Given the description of an element on the screen output the (x, y) to click on. 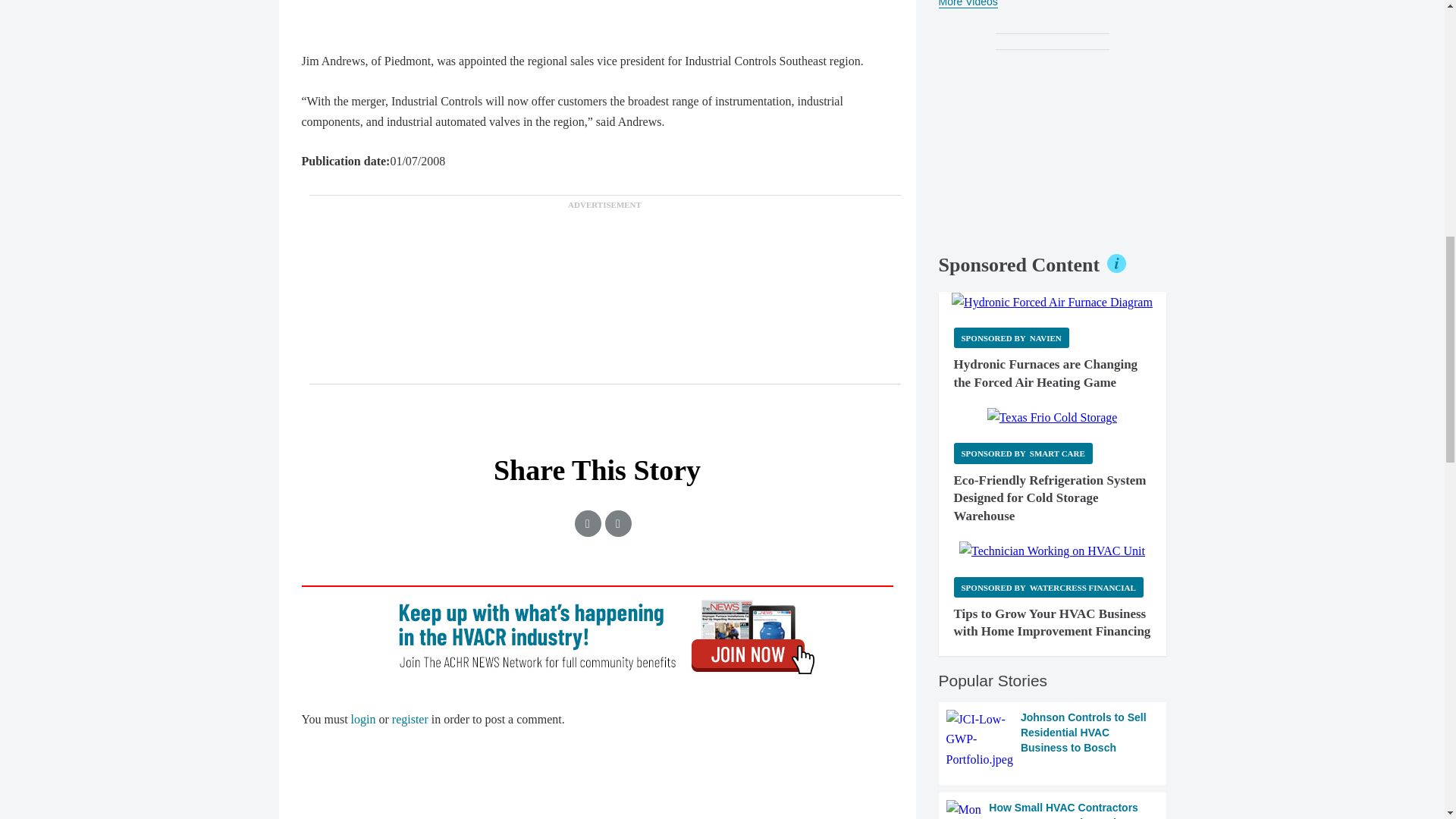
Johnson Controls to Sell Residential HVAC Business to Bosch (1052, 739)
Sponsored by Navien (1010, 337)
Hydronic Forced Air Furnace Diagram (1052, 302)
Texas Frio Cold Storage (1052, 417)
Technician Working on HVAC Unit (1051, 551)
Sponsored by Smart Care (1023, 453)
Sponsored by Watercress Financial (1047, 586)
